Given the description of an element on the screen output the (x, y) to click on. 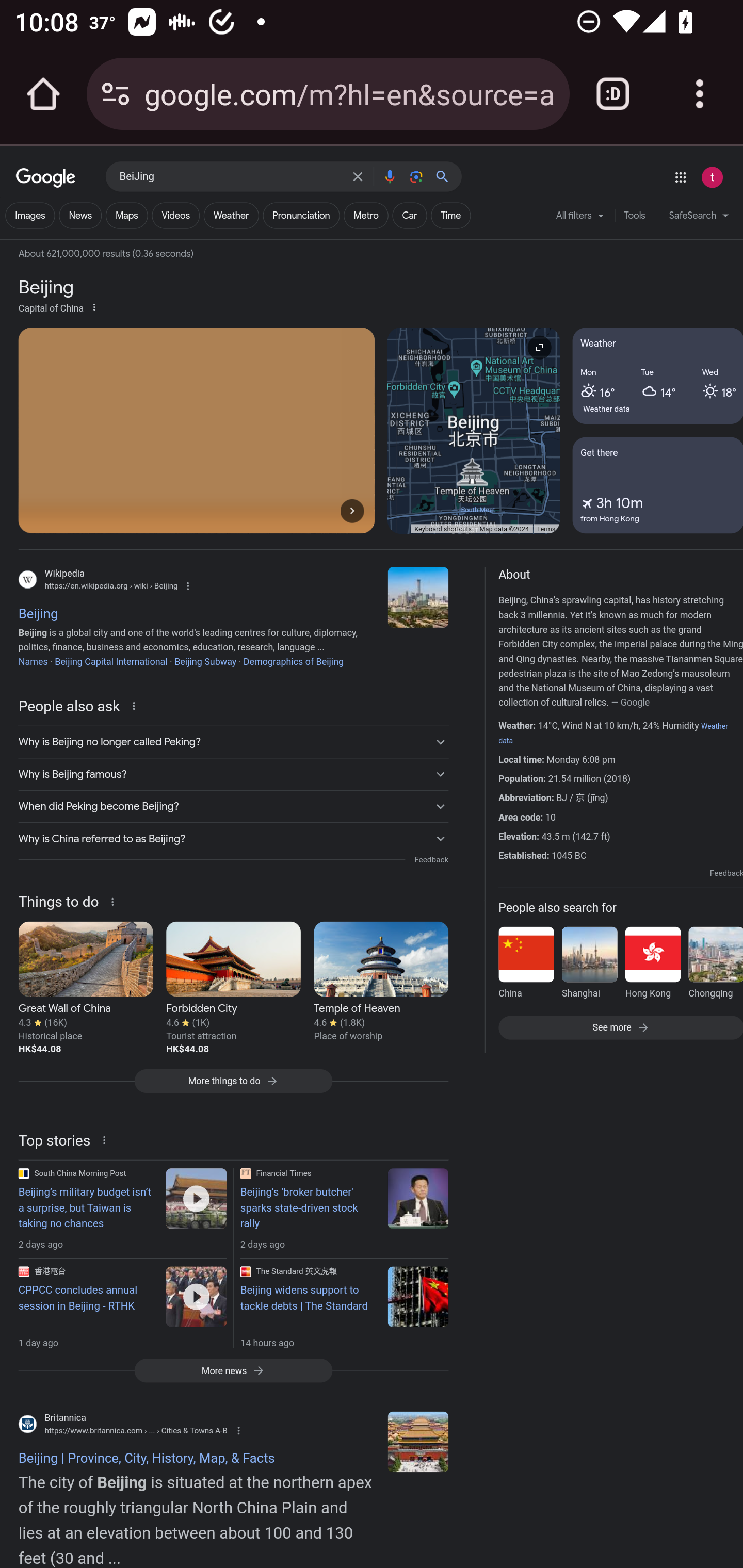
Open the home page (43, 93)
Connection is secure (115, 93)
Switch or close tabs (612, 93)
Customize and control Google Chrome (699, 93)
Clear (357, 176)
Search by voice (389, 176)
Search by image (415, 176)
Search (446, 176)
Google apps (680, 176)
Google (45, 178)
BeiJing (229, 177)
Images (29, 215)
News (79, 215)
Maps (126, 215)
Videos (175, 215)
Add Weather Weather (230, 215)
Add Pronunciation Pronunciation (301, 215)
Add Metro Metro (366, 215)
Add Car Car (409, 215)
Add Time Time (450, 215)
All filters (580, 218)
Tools (634, 215)
SafeSearch (698, 217)
More options (93, 306)
Expand map (539, 346)
Weather data (606, 407)
Previous image (323, 510)
Next image (352, 510)
Beijing (417, 597)
Names (32, 661)
Beijing Capital International (110, 661)
Beijing Subway (204, 661)
Demographics of Beijing (293, 661)
About this result (136, 704)
Weather data (612, 732)
Why is Beijing no longer called Peking? (232, 741)
Why is Beijing famous? (232, 774)
When did Peking become Beijing? (232, 806)
Why is China referred to as Beijing? (232, 837)
Feedback (430, 858)
Feedback (726, 873)
About this result (115, 900)
China (526, 965)
Shanghai (588, 965)
Hong Kong (652, 965)
Chongqing (715, 965)
See more See more See more (620, 1026)
More things to do (232, 1086)
About this result (106, 1139)
More news (232, 1369)
Beijing (417, 1441)
